Given the description of an element on the screen output the (x, y) to click on. 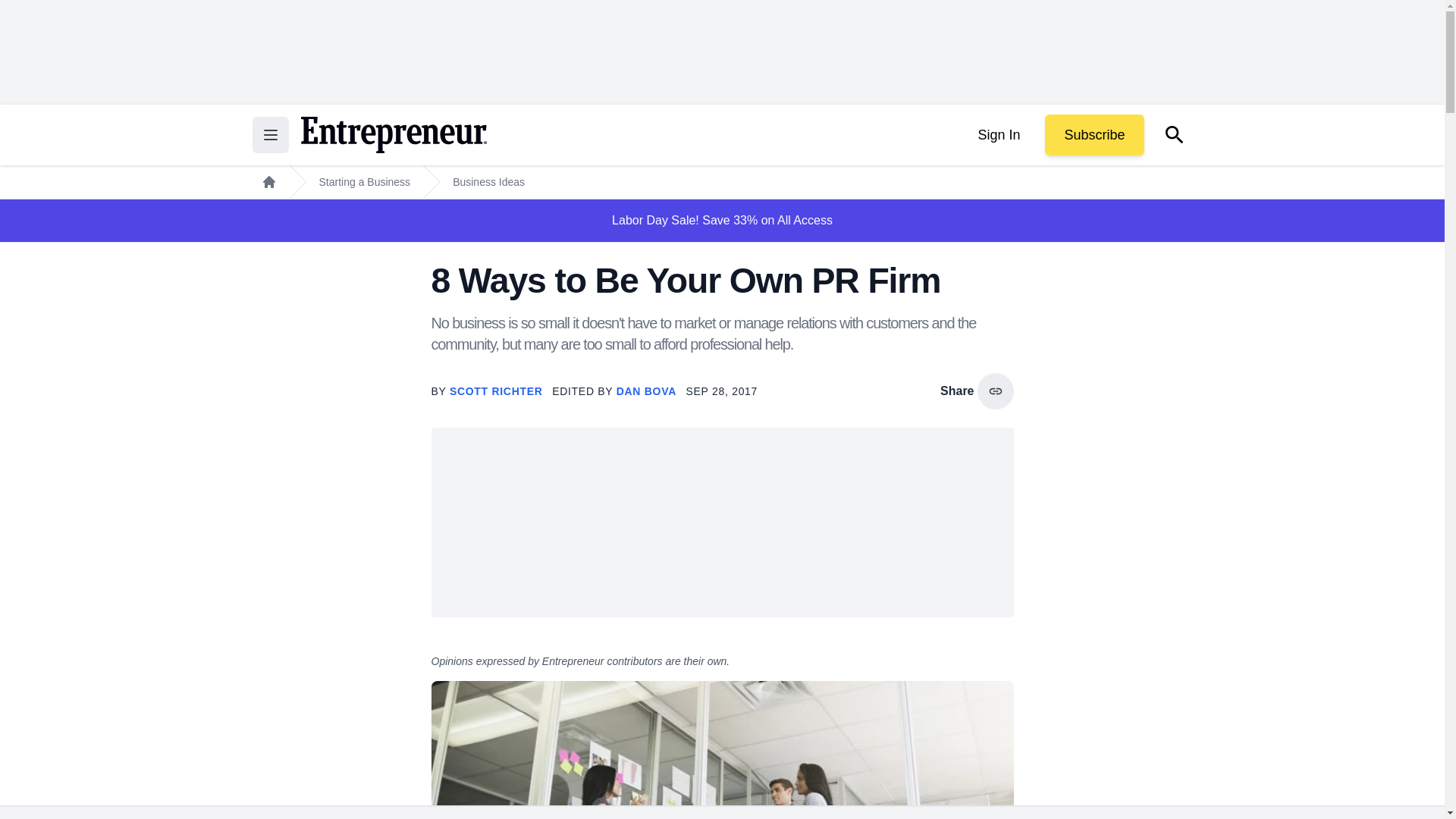
Return to the home page (392, 135)
Subscribe (1093, 134)
Sign In (998, 134)
copy (994, 391)
